Given the description of an element on the screen output the (x, y) to click on. 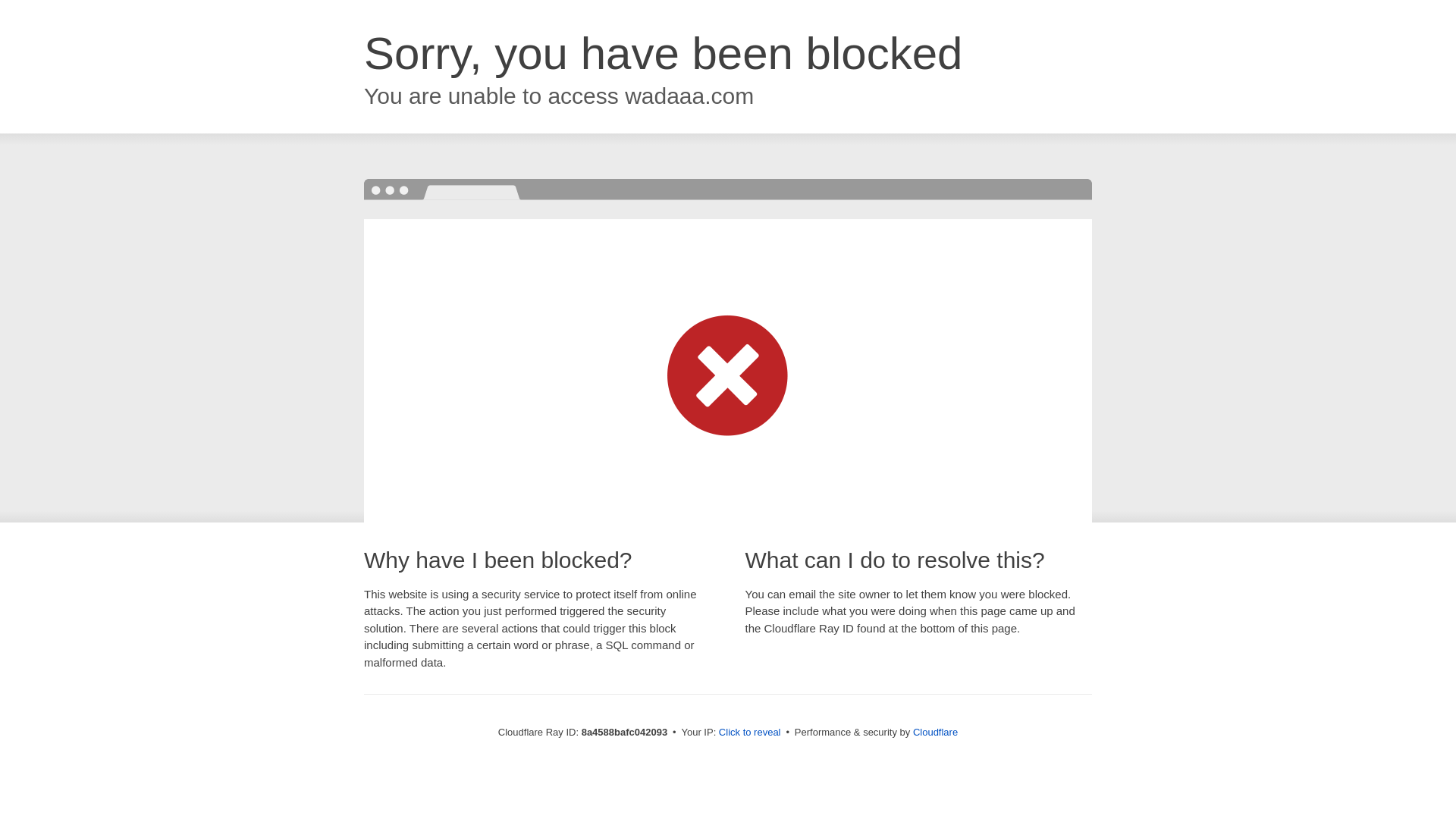
Cloudflare (935, 731)
Click to reveal (749, 732)
